Given the description of an element on the screen output the (x, y) to click on. 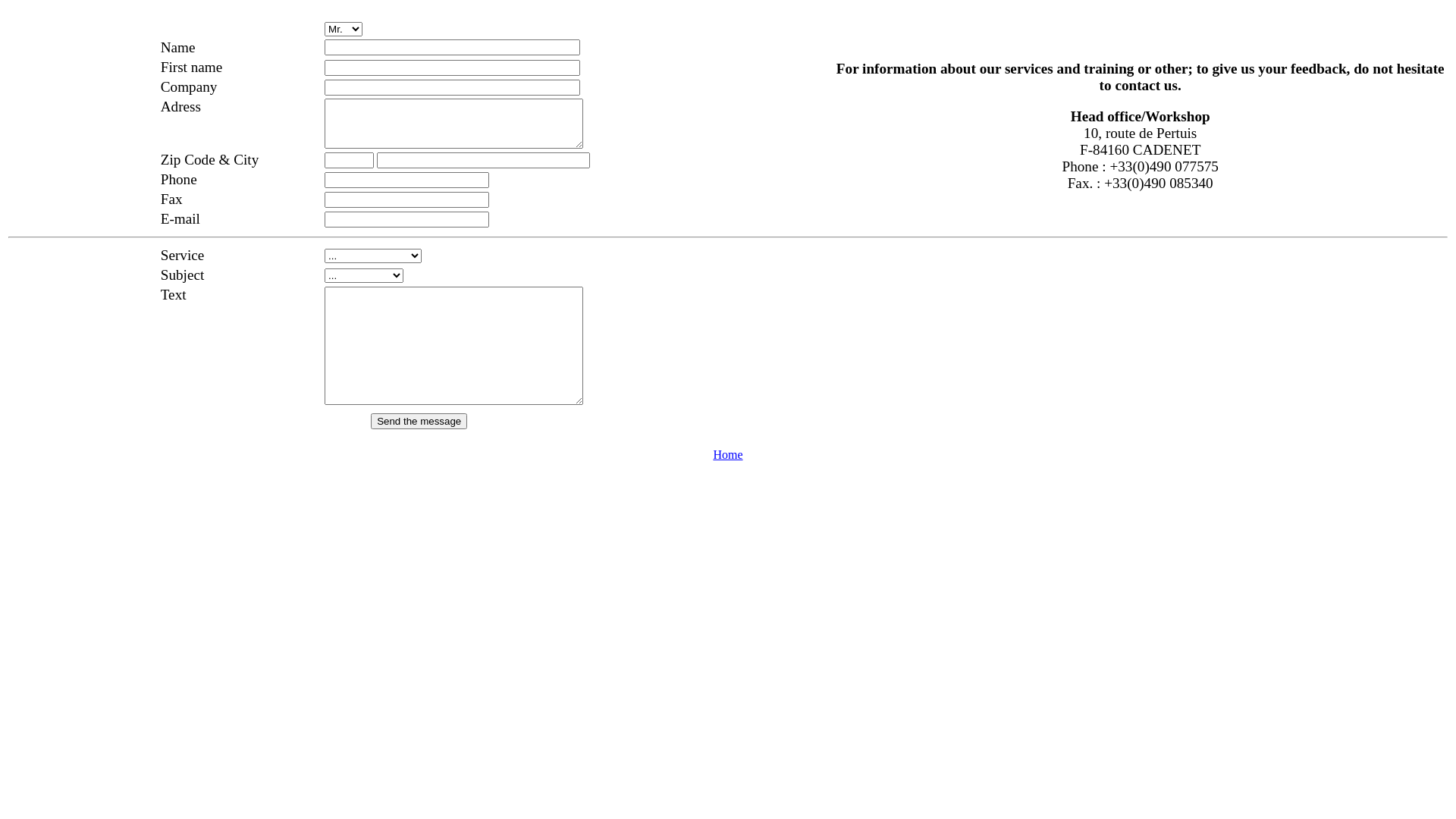
Send the message Element type: text (418, 420)
Home Element type: text (727, 454)
